Given the description of an element on the screen output the (x, y) to click on. 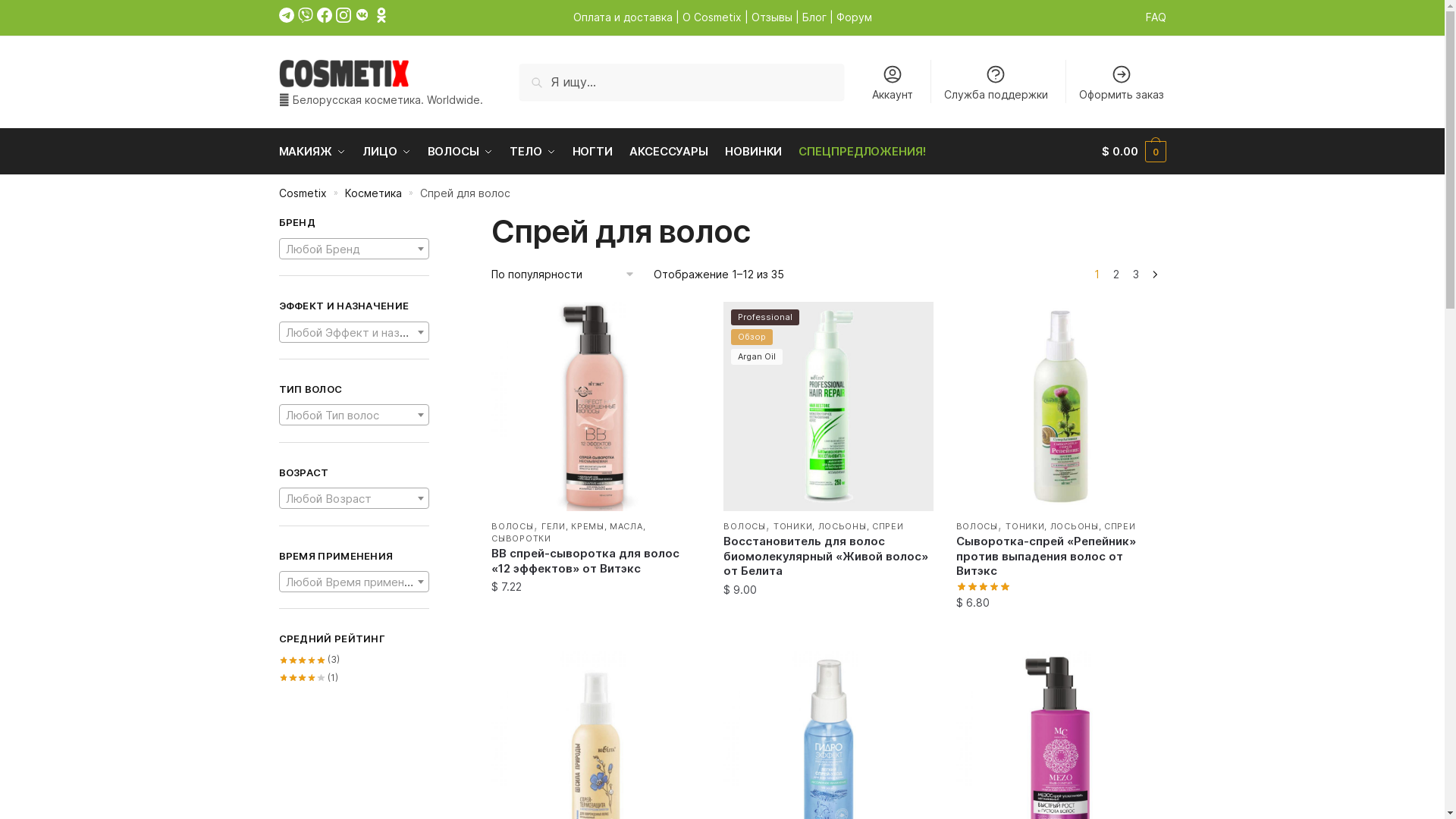
$ 0.00 0 Element type: text (1133, 151)
3 Element type: text (1135, 274)
Cosmetix Element type: text (302, 192)
FAQ Element type: text (1155, 16)
2 Element type: text (1116, 274)
